Given the description of an element on the screen output the (x, y) to click on. 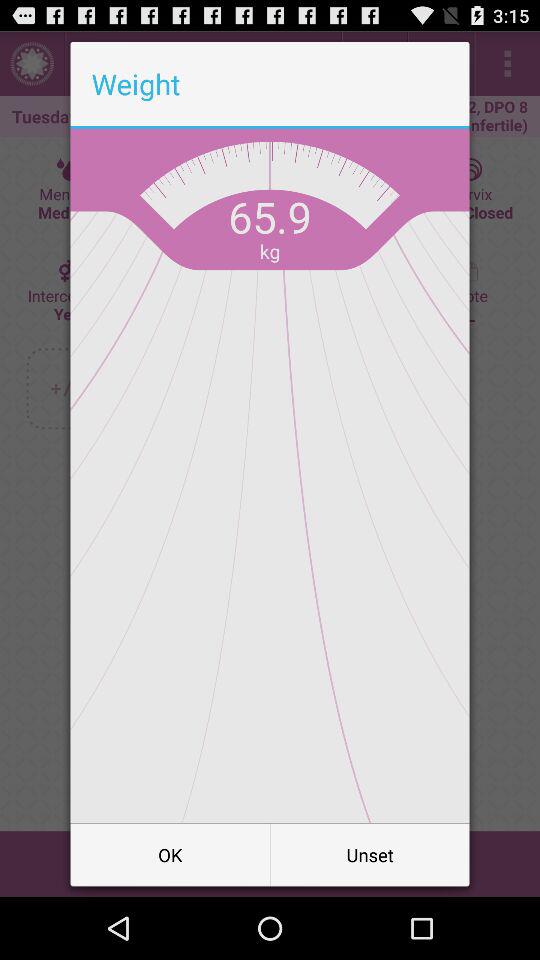
press button next to the unset icon (170, 854)
